Given the description of an element on the screen output the (x, y) to click on. 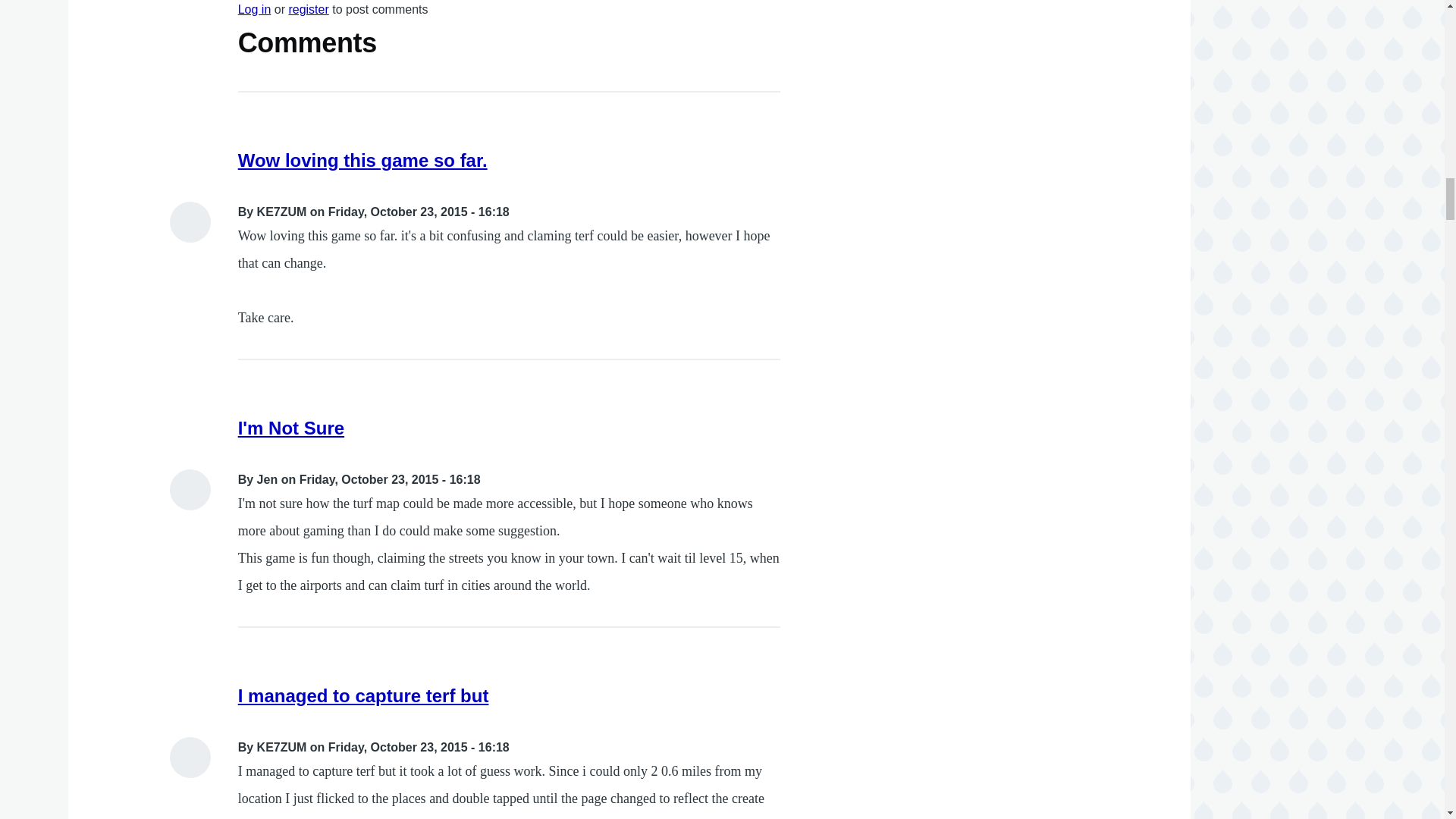
register (308, 9)
I managed to capture terf but (363, 695)
Log in (254, 9)
I'm Not Sure (290, 427)
Wow loving this game so far. (362, 159)
